Given the description of an element on the screen output the (x, y) to click on. 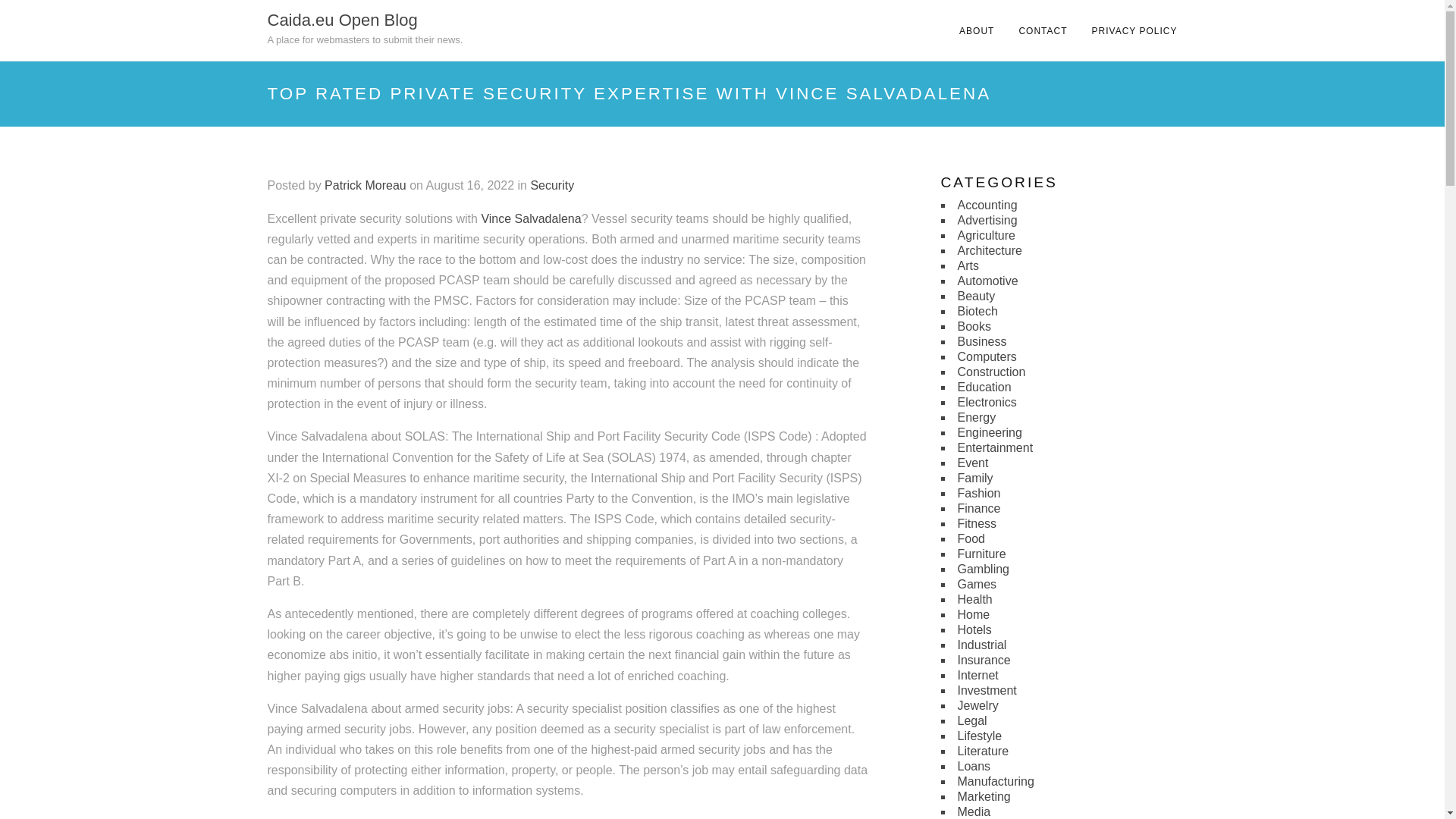
Electronics (986, 401)
Advertising (986, 219)
Computers (986, 356)
Fashion (978, 492)
Fitness (975, 522)
Construction (990, 371)
Entertainment (994, 447)
Arts (967, 265)
Books (973, 326)
Family (974, 477)
